Given the description of an element on the screen output the (x, y) to click on. 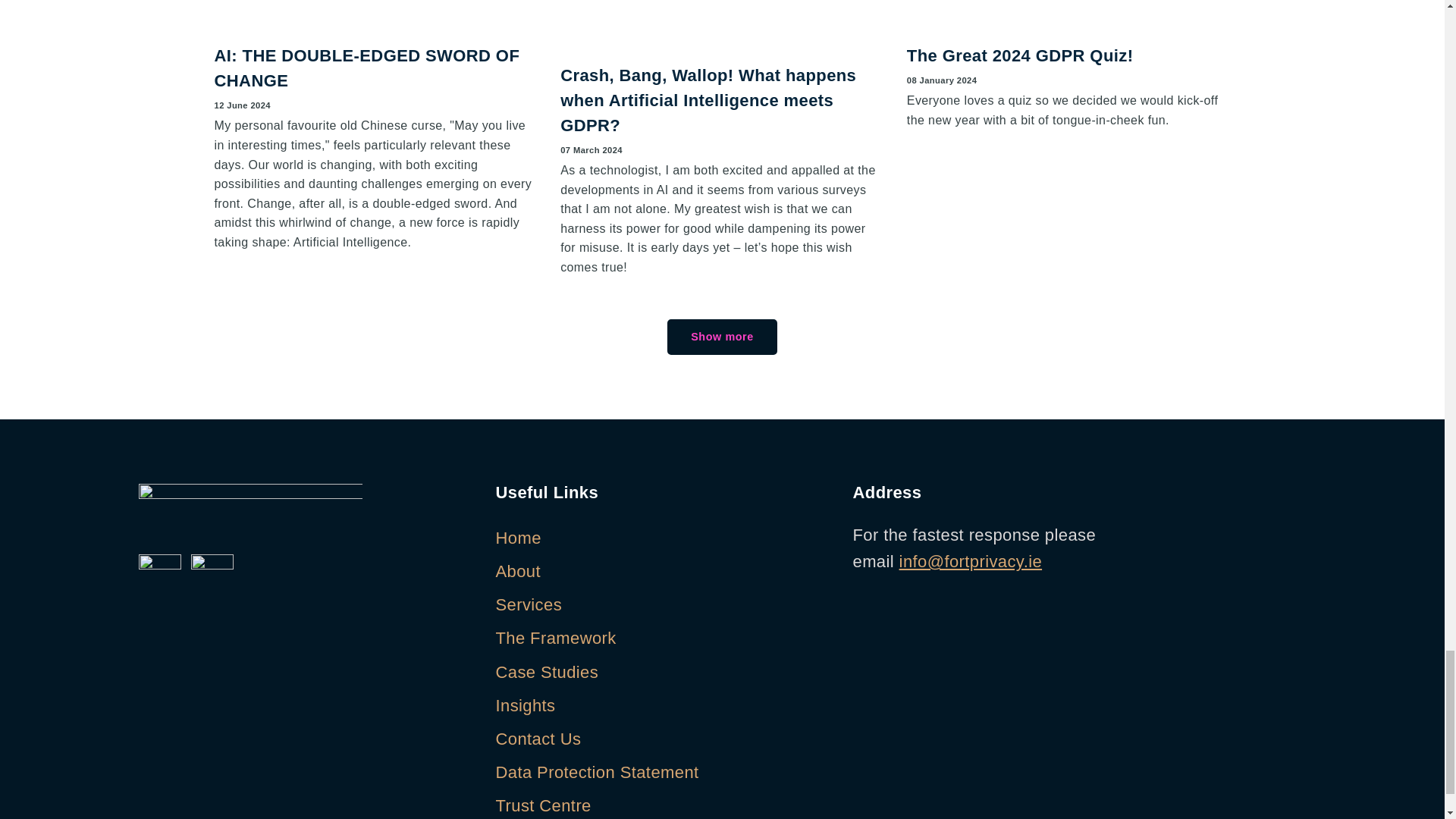
AI: THE DOUBLE-EDGED SWORD OF CHANGE (376, 18)
Case Studies (662, 671)
The Framework (662, 638)
The Great 2024 GDPR Quiz! (1020, 55)
AI: THE DOUBLE-EDGED SWORD OF CHANGE (366, 67)
Show more (721, 336)
AI: THE DOUBLE-EDGED SWORD OF CHANGE (366, 67)
